Given the description of an element on the screen output the (x, y) to click on. 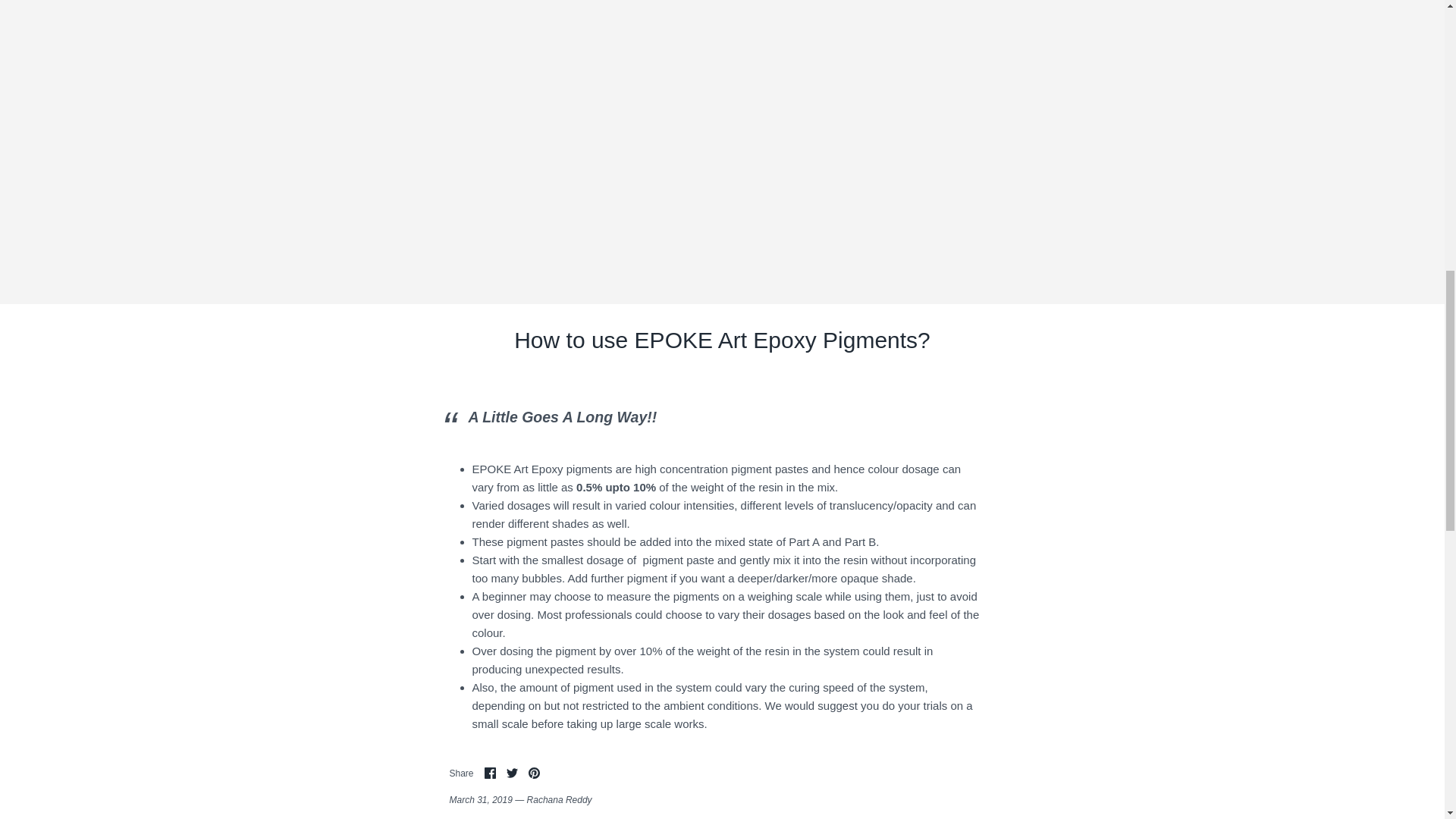
Pinterest (534, 772)
Twitter (512, 772)
Facebook (490, 772)
